Given the description of an element on the screen output the (x, y) to click on. 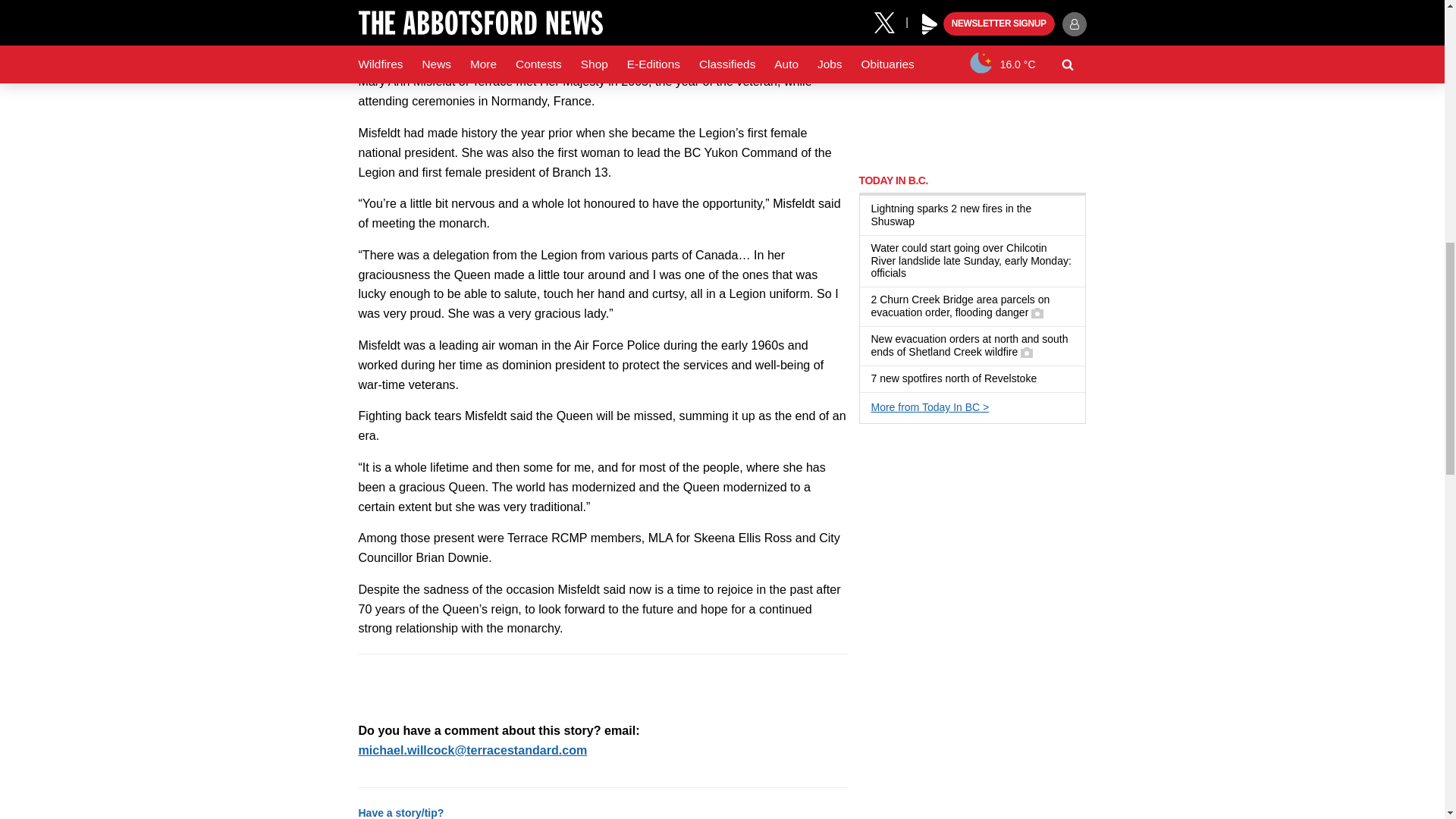
Has a gallery (1036, 313)
Has a gallery (1026, 352)
